Given the description of an element on the screen output the (x, y) to click on. 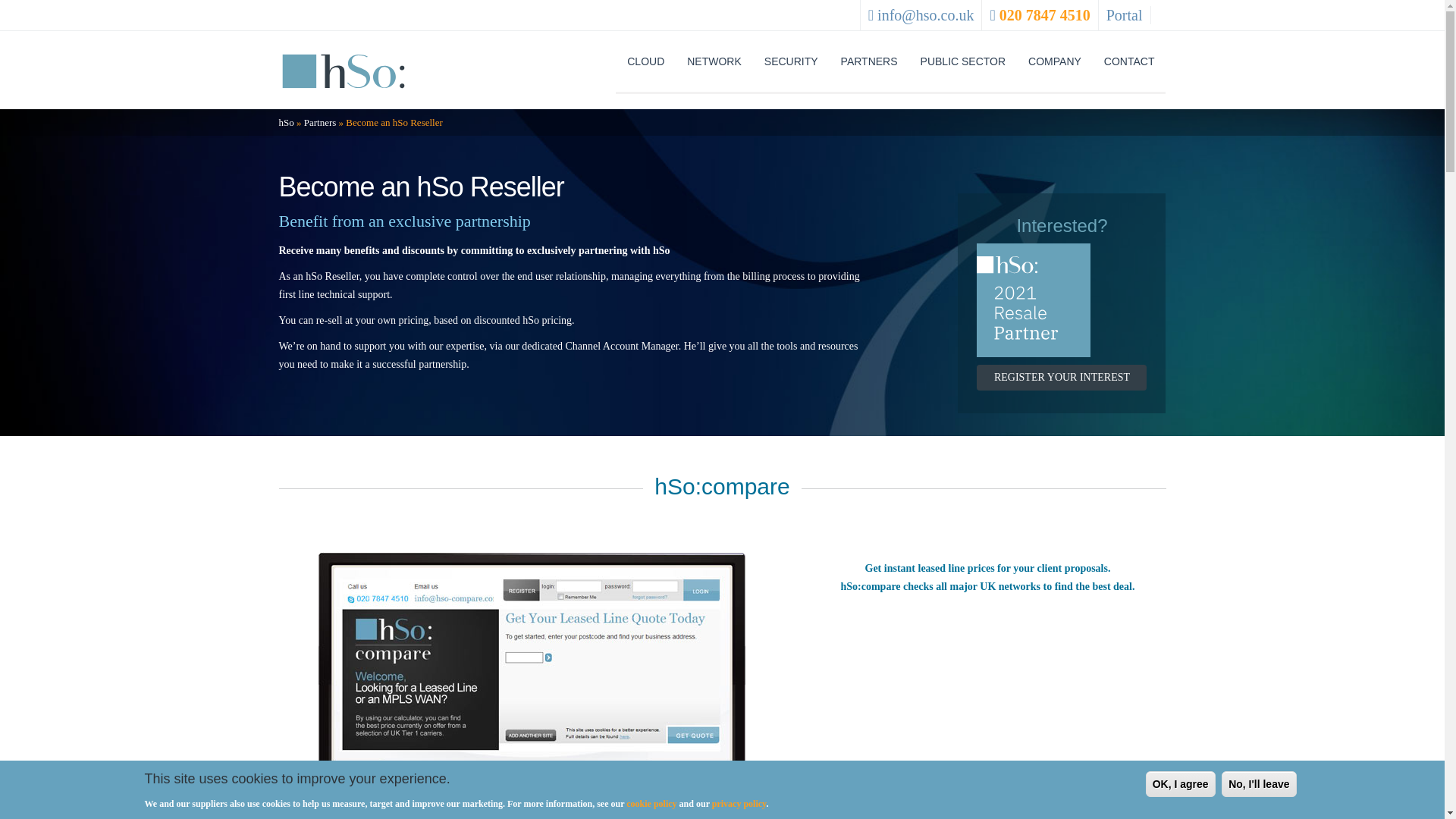
Portal (1124, 14)
CLOUD (645, 62)
NETWORK (713, 62)
020 7847 4510 (1044, 14)
